Given the description of an element on the screen output the (x, y) to click on. 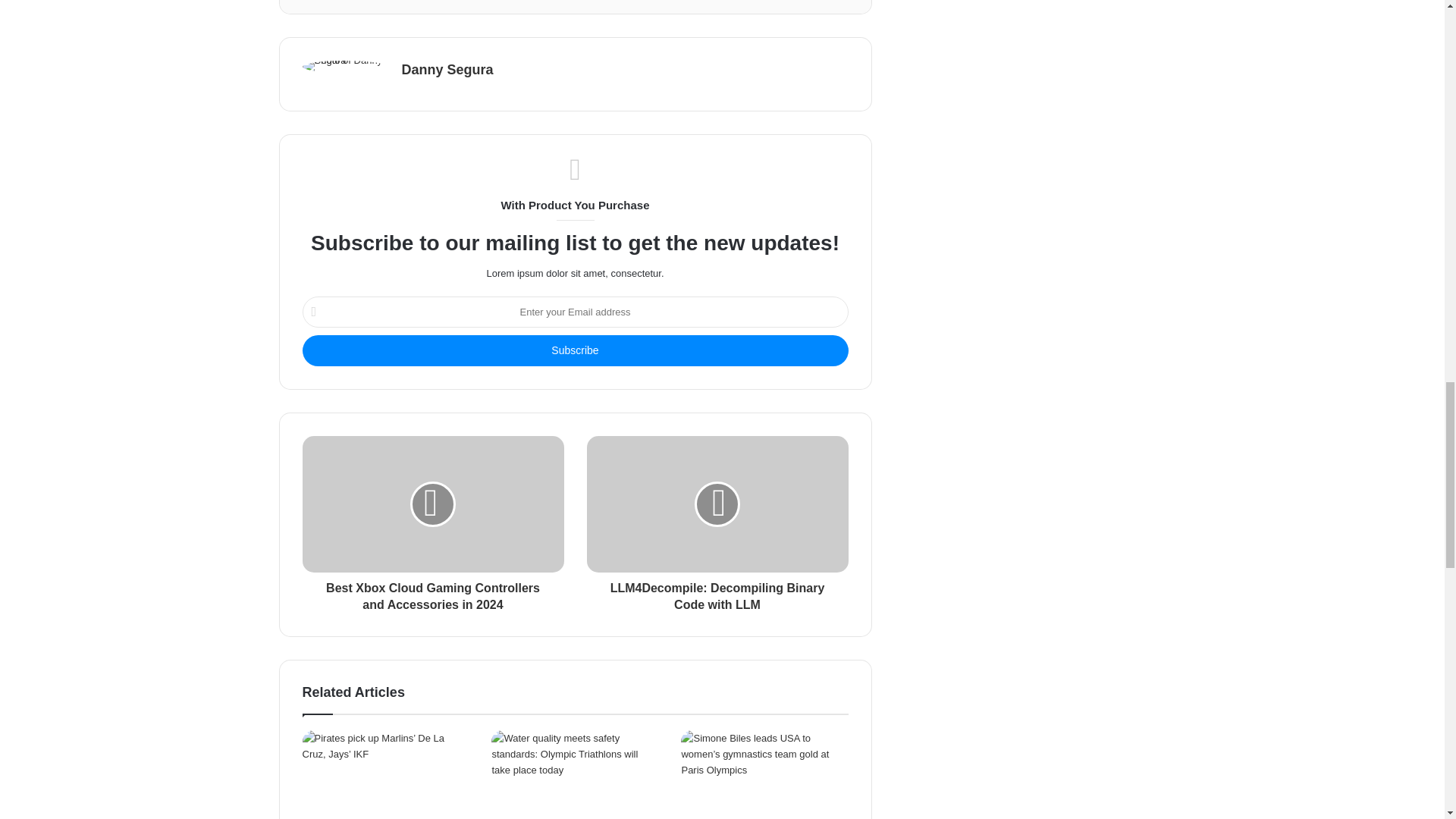
Subscribe (574, 350)
